Given the description of an element on the screen output the (x, y) to click on. 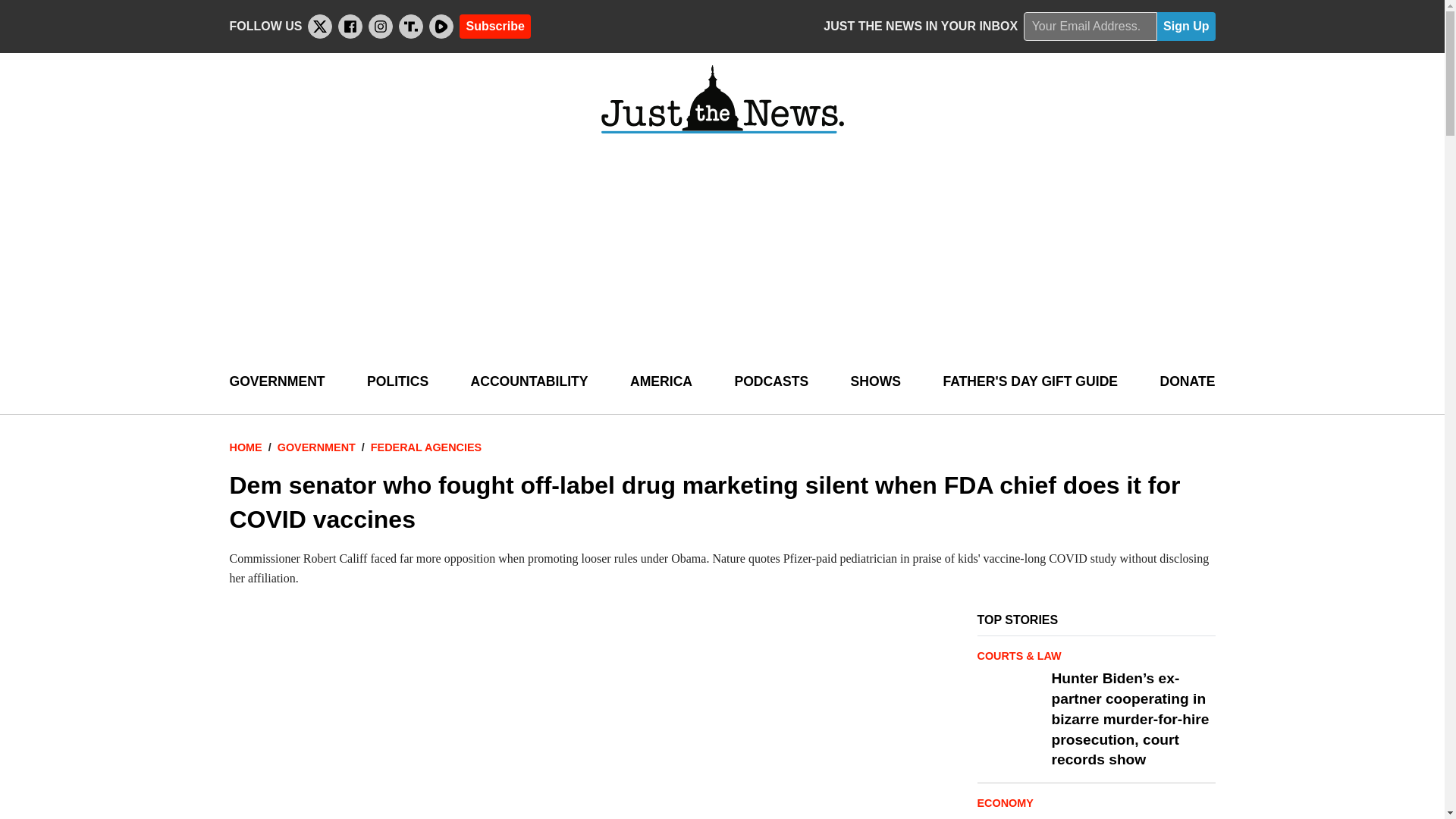
PODCASTS (770, 381)
Sign Up (1185, 26)
ACCOUNTABILITY (529, 381)
DONATE (1186, 381)
Sign Up (1185, 26)
SHOWS (875, 381)
AMERICA (661, 381)
